Given the description of an element on the screen output the (x, y) to click on. 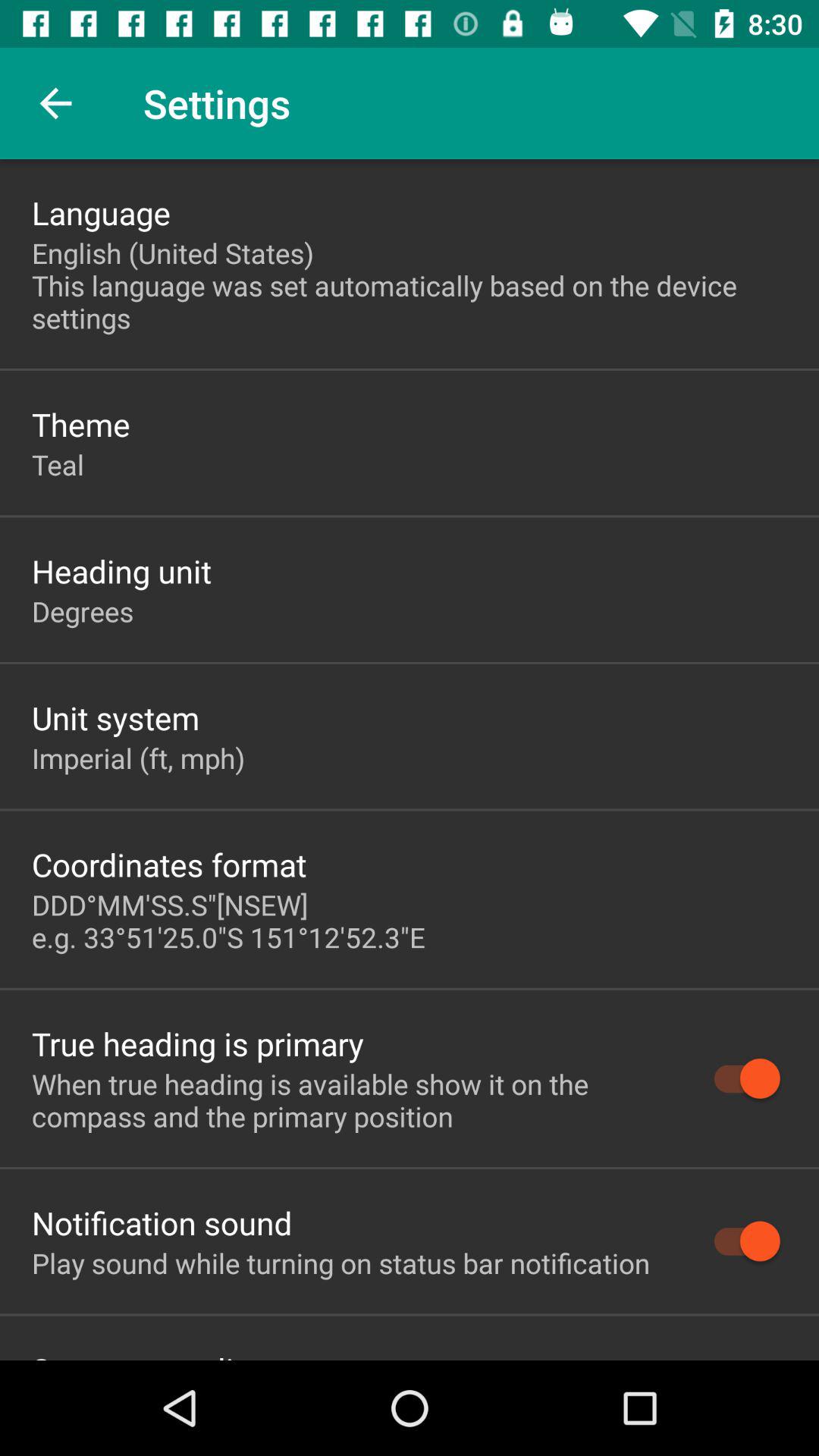
choose item next to settings (55, 103)
